Given the description of an element on the screen output the (x, y) to click on. 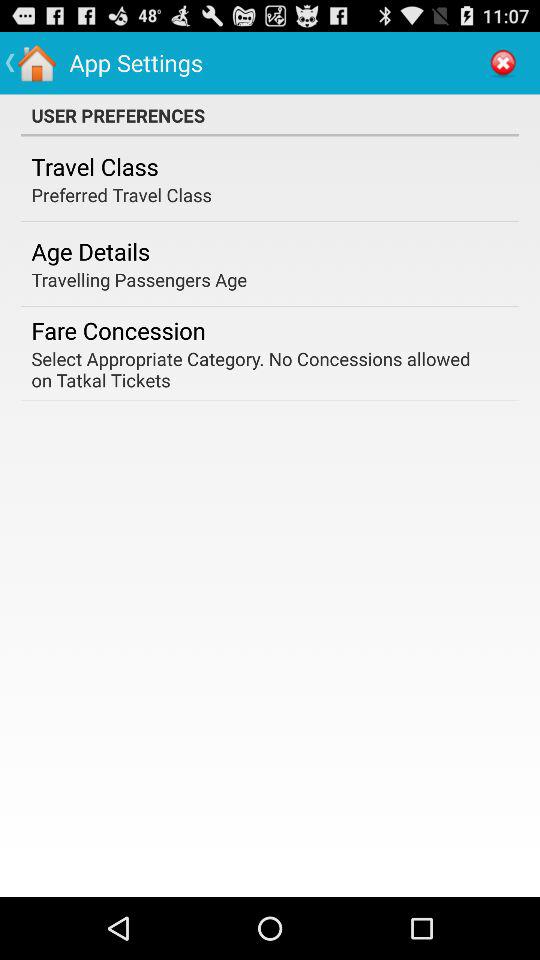
launch the item next to  app settings app (503, 62)
